Given the description of an element on the screen output the (x, y) to click on. 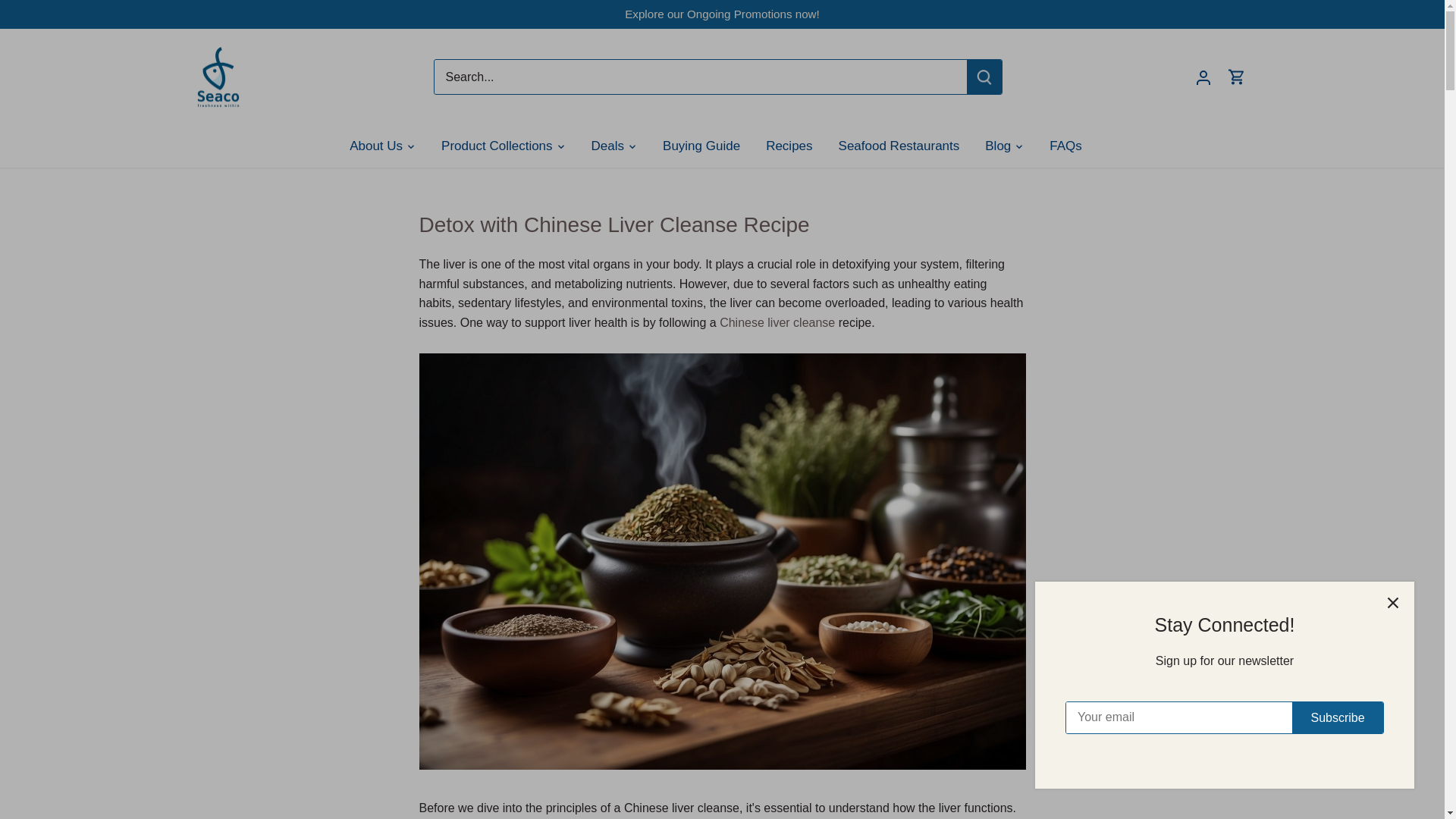
About Us (381, 146)
Go to cart (1235, 76)
Explore our Ongoing Promotions now! (721, 13)
Product Collections (496, 146)
